Given the description of an element on the screen output the (x, y) to click on. 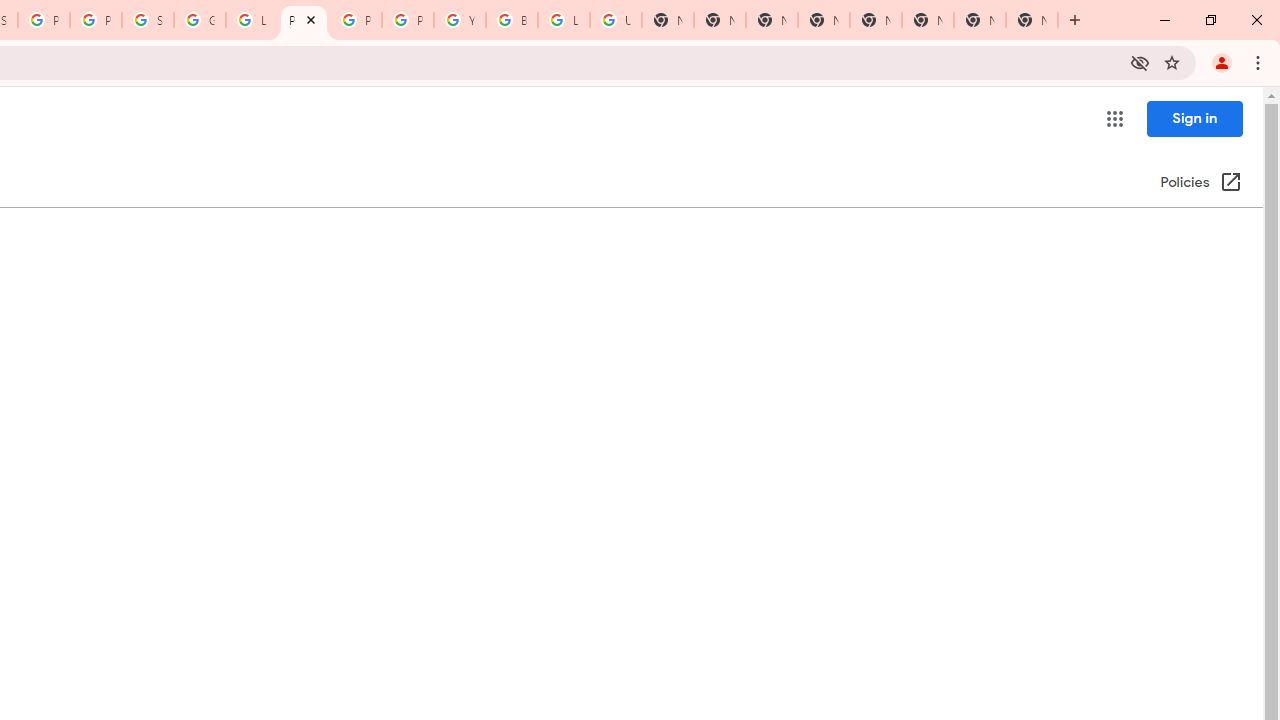
Privacy Help Center - Policies Help (355, 20)
Browse Chrome as a guest - Computer - Google Chrome Help (511, 20)
Privacy Help Center - Policies Help (303, 20)
Third-party cookies blocked (1139, 62)
Google apps (1114, 118)
